Given the description of an element on the screen output the (x, y) to click on. 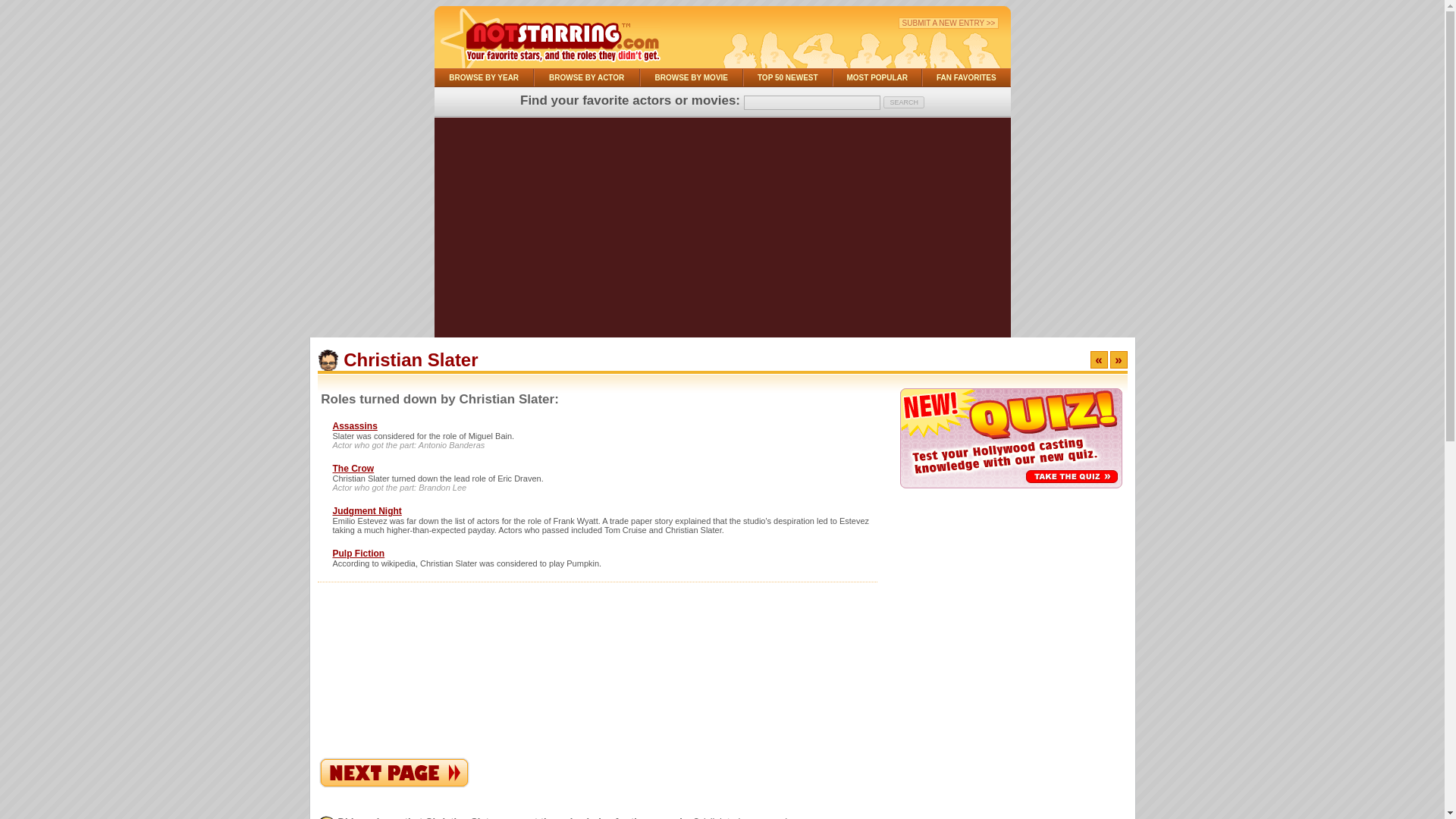
Pulp Fiction (357, 552)
Assassins (354, 425)
BROWSE BY ACTOR (586, 77)
SEARCH (903, 102)
TOP 50 NEWEST (787, 77)
Helen Slater (1118, 359)
SEARCH (903, 102)
Helen Slater (393, 784)
BROWSE BY MOVIE (692, 77)
BROWSE BY YEAR (483, 77)
